Given the description of an element on the screen output the (x, y) to click on. 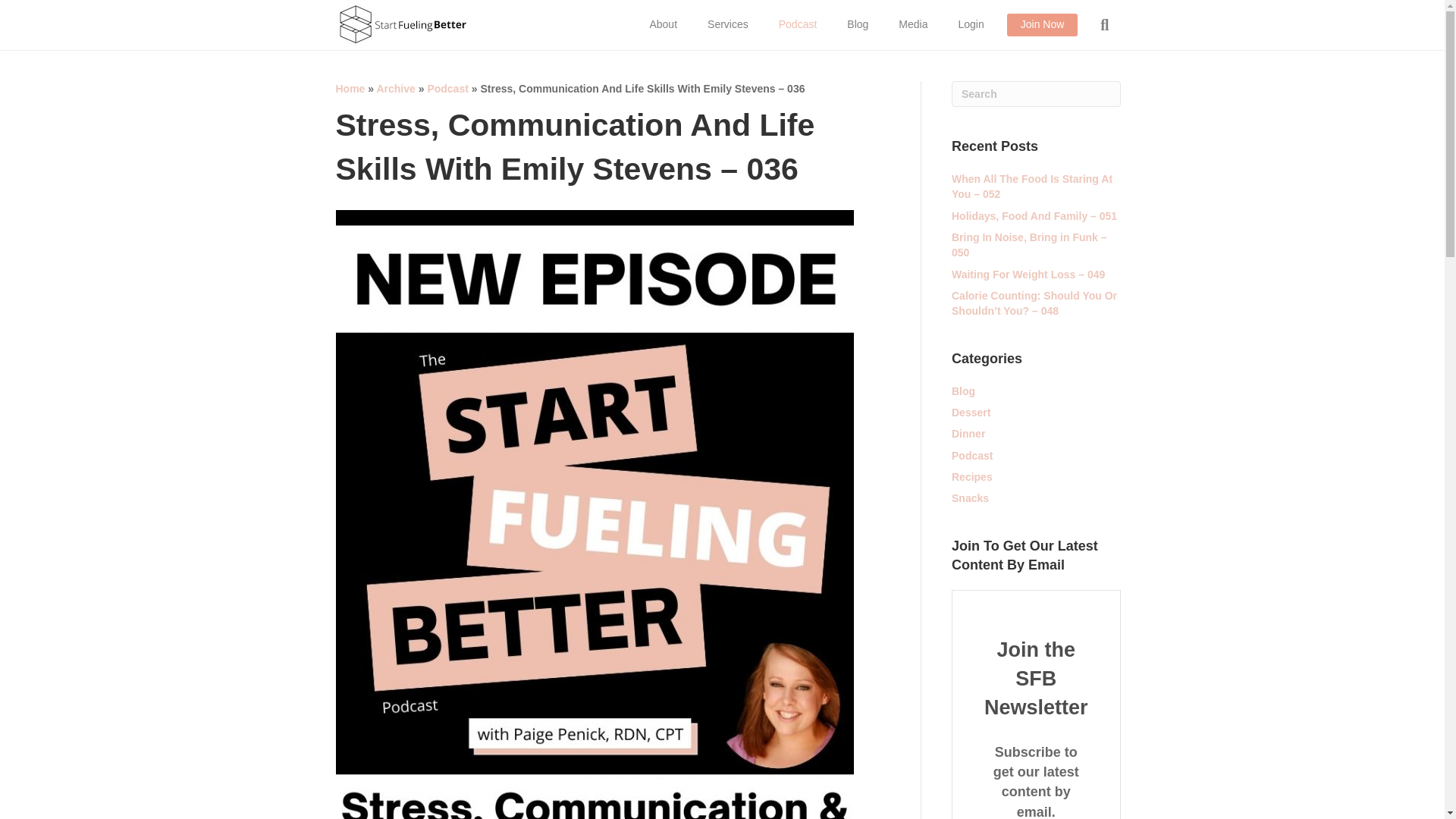
Home (349, 88)
About (663, 24)
Podcast (797, 24)
Login (970, 24)
Blog (857, 24)
Podcast (446, 88)
Services (727, 24)
Media (912, 24)
Type and press Enter to search. (1036, 94)
Archive (394, 88)
